Given the description of an element on the screen output the (x, y) to click on. 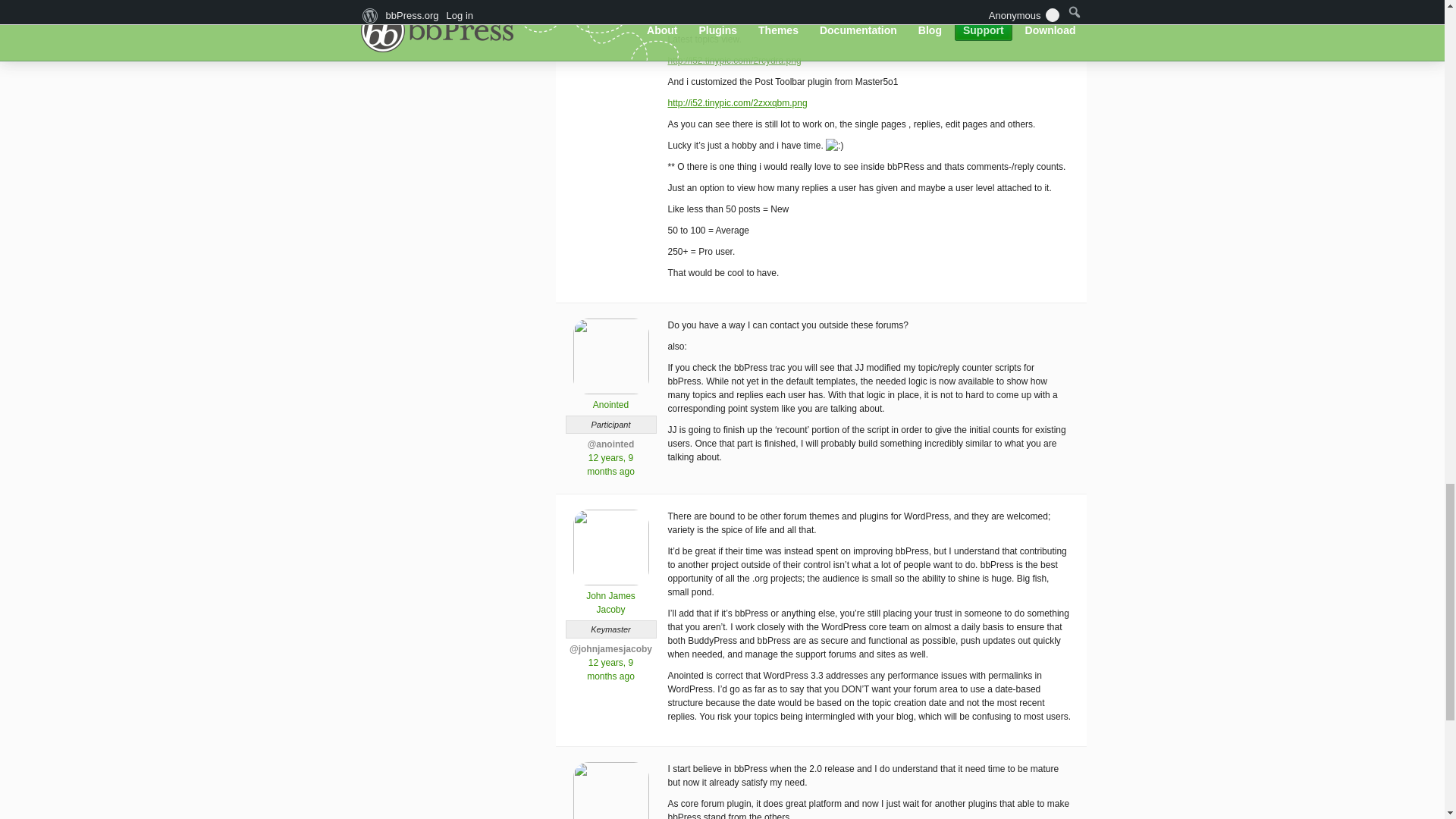
12 years, 9 months ago (610, 669)
12 years, 9 months ago (610, 464)
John James Jacoby (609, 596)
Anointed (609, 398)
